Given the description of an element on the screen output the (x, y) to click on. 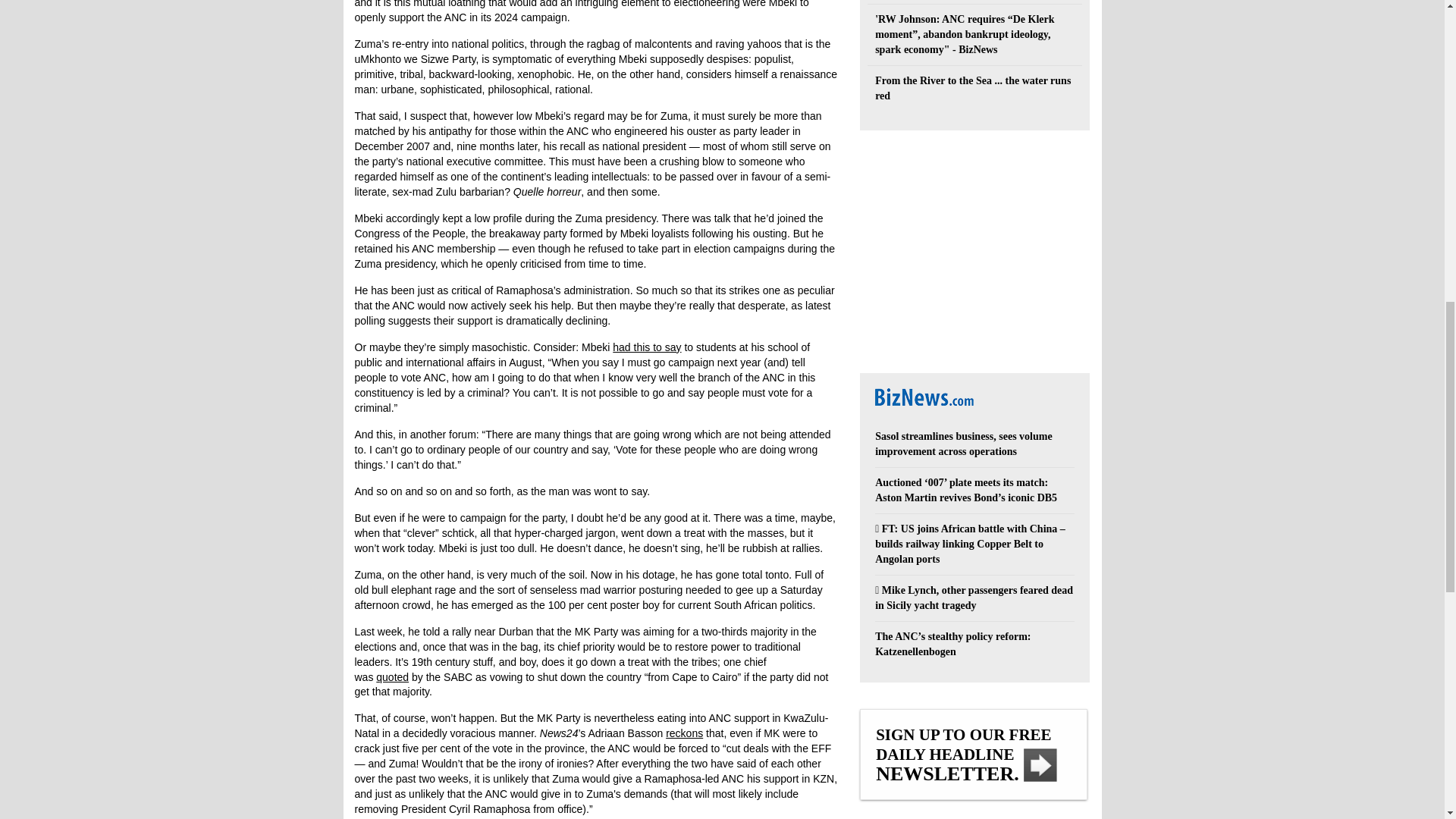
quoted (392, 676)
reckons (684, 733)
had this to say (646, 346)
